Given the description of an element on the screen output the (x, y) to click on. 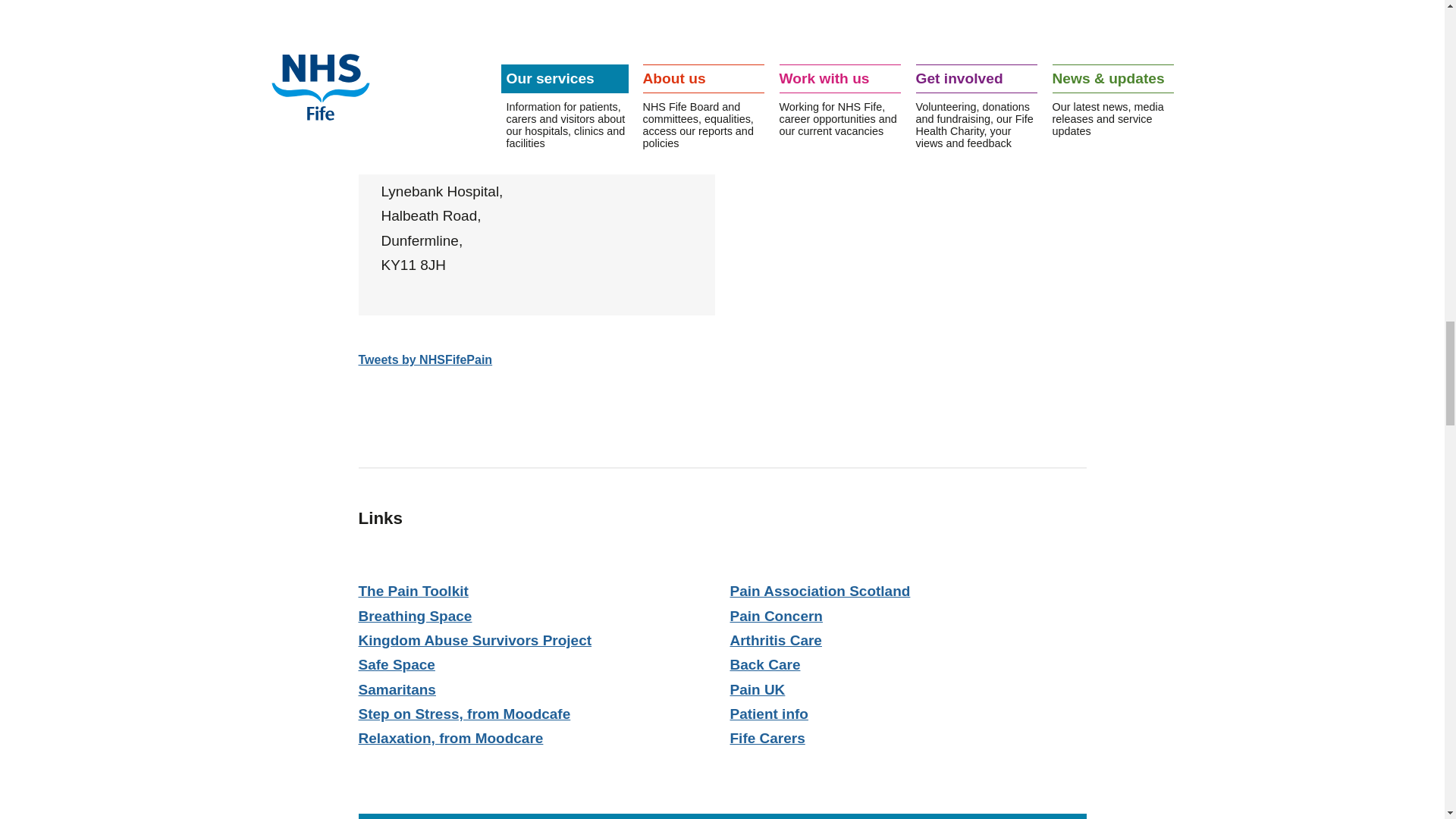
Fife Carers (767, 738)
Pain Association Scotland (819, 590)
Pain Concern (775, 616)
Samaritans (396, 689)
Patient info (768, 713)
Kingdom Abuse Survivors Project (474, 640)
Safe Space (395, 664)
Breathing Space (414, 616)
Pain UK (756, 689)
Arthritis Care (775, 640)
Step on Stress, from Moodcafe (464, 713)
Back Care (764, 664)
Relaxation, from Moodcare (450, 738)
Tweets by NHSFifePain (425, 359)
The Pain Toolkit (412, 590)
